Given the description of an element on the screen output the (x, y) to click on. 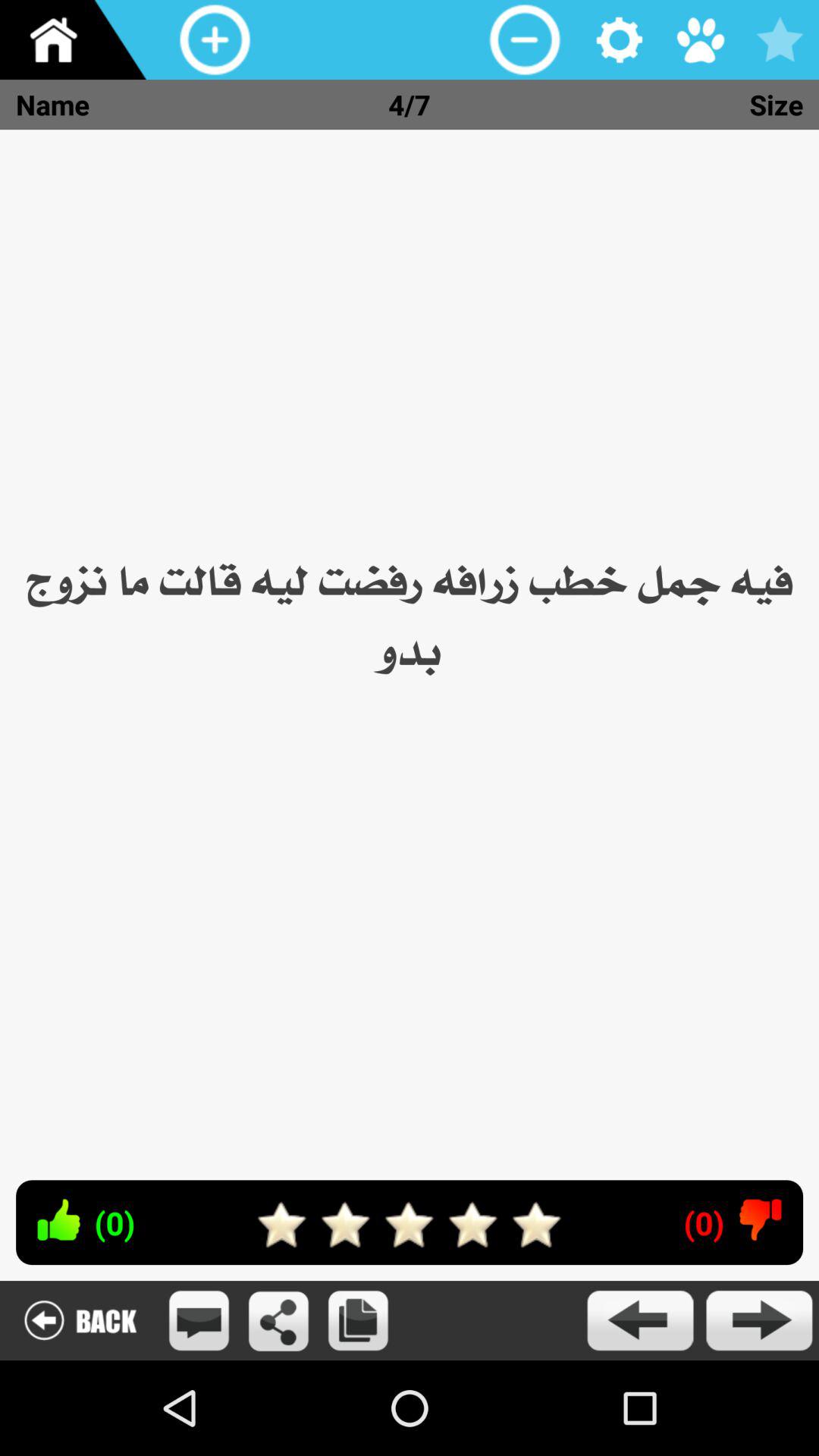
dislike (760, 1219)
